Given the description of an element on the screen output the (x, y) to click on. 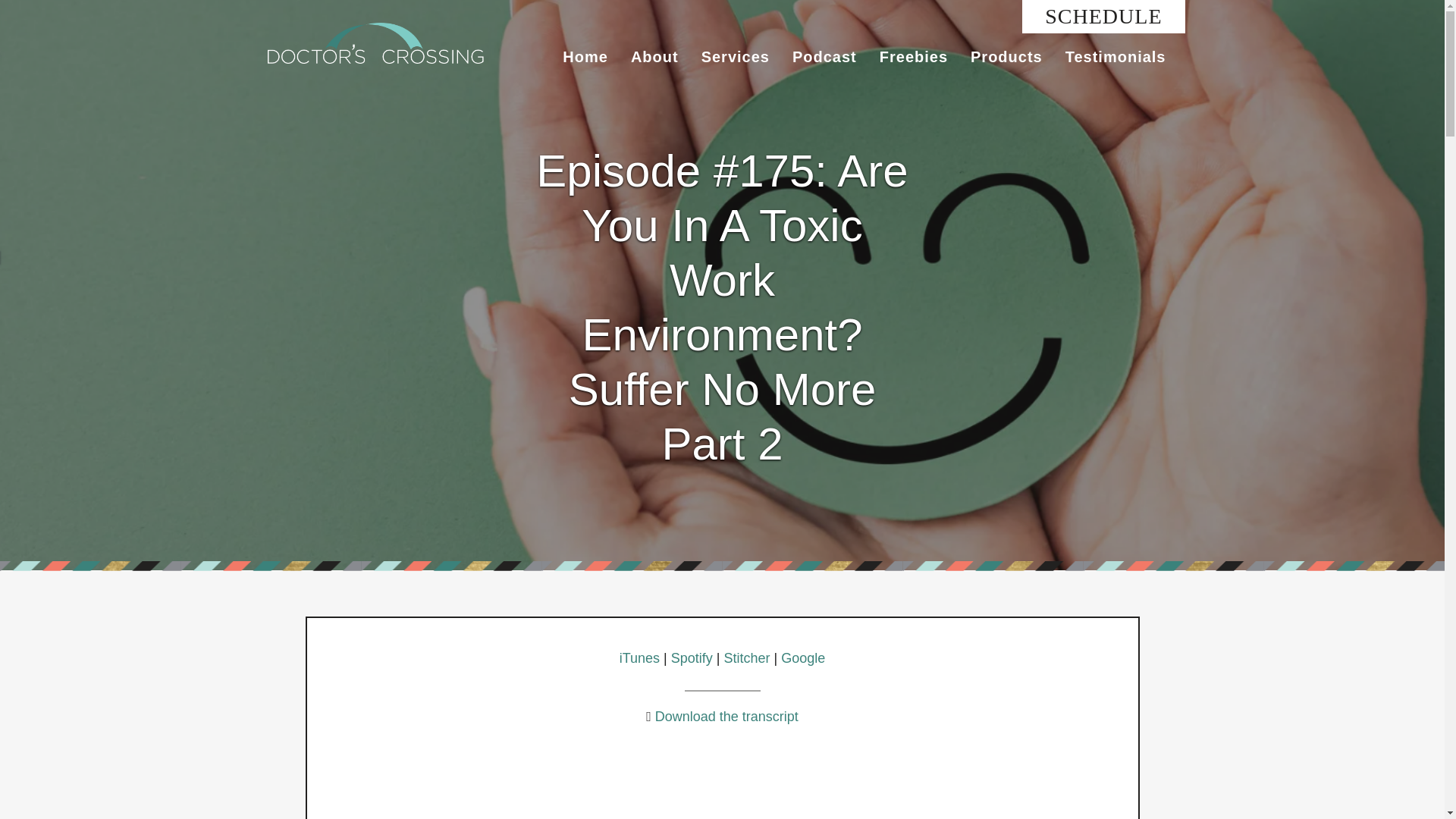
Spotify (692, 657)
Embed Player (721, 783)
Products (1006, 56)
About (655, 56)
SCHEDULE (1102, 16)
Download the transcript (723, 716)
Testimonials (1115, 56)
Podcast (823, 56)
Services (735, 56)
Freebies (913, 56)
